Given the description of an element on the screen output the (x, y) to click on. 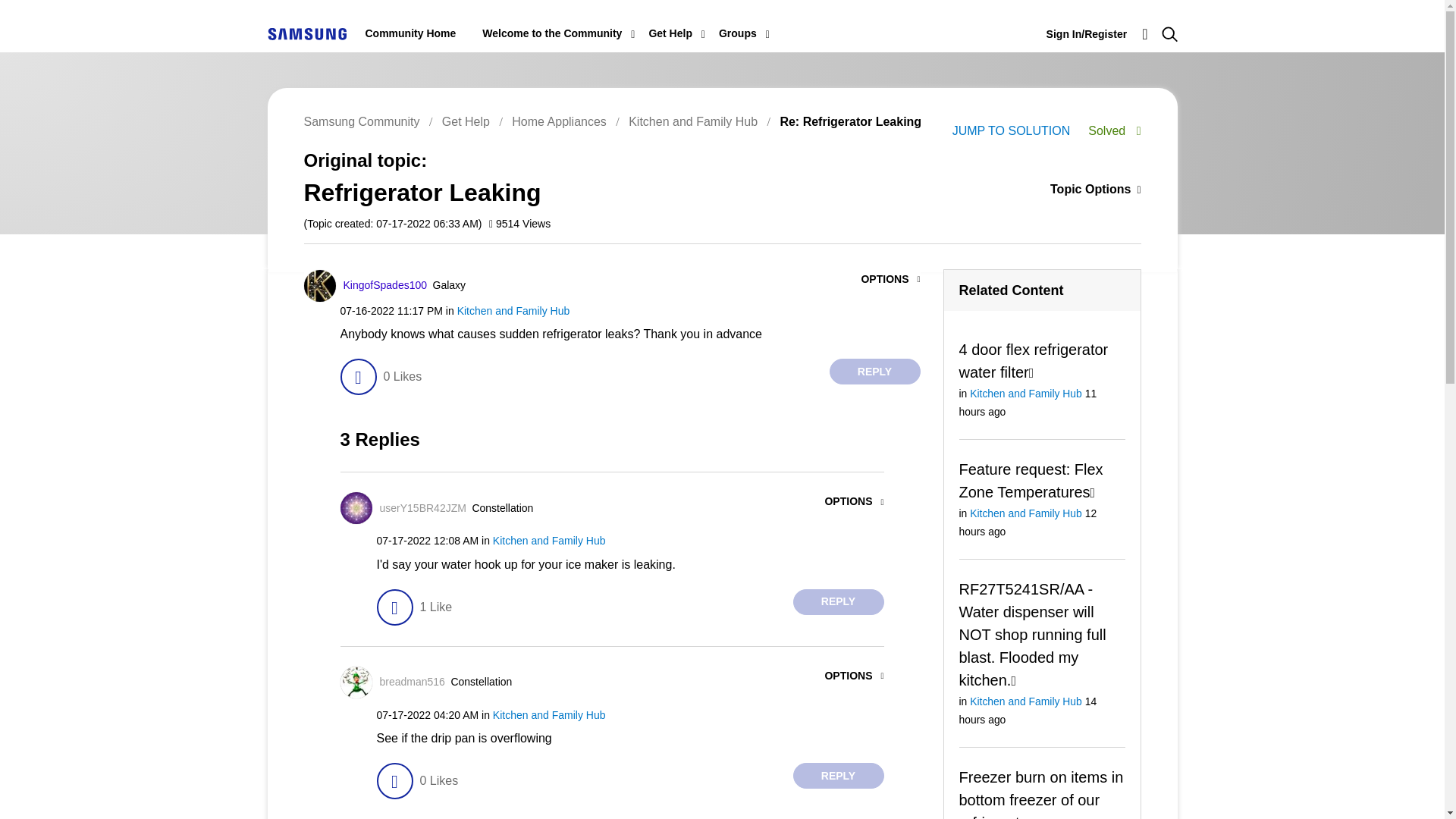
Get Help (670, 33)
Get Help (670, 33)
Welcome to the Community (551, 33)
Community Home (411, 33)
Groups (738, 33)
Samsung (306, 33)
Welcome to the Community (551, 33)
Samsung (306, 33)
Community Home (411, 33)
Groups (738, 33)
